Given the description of an element on the screen output the (x, y) to click on. 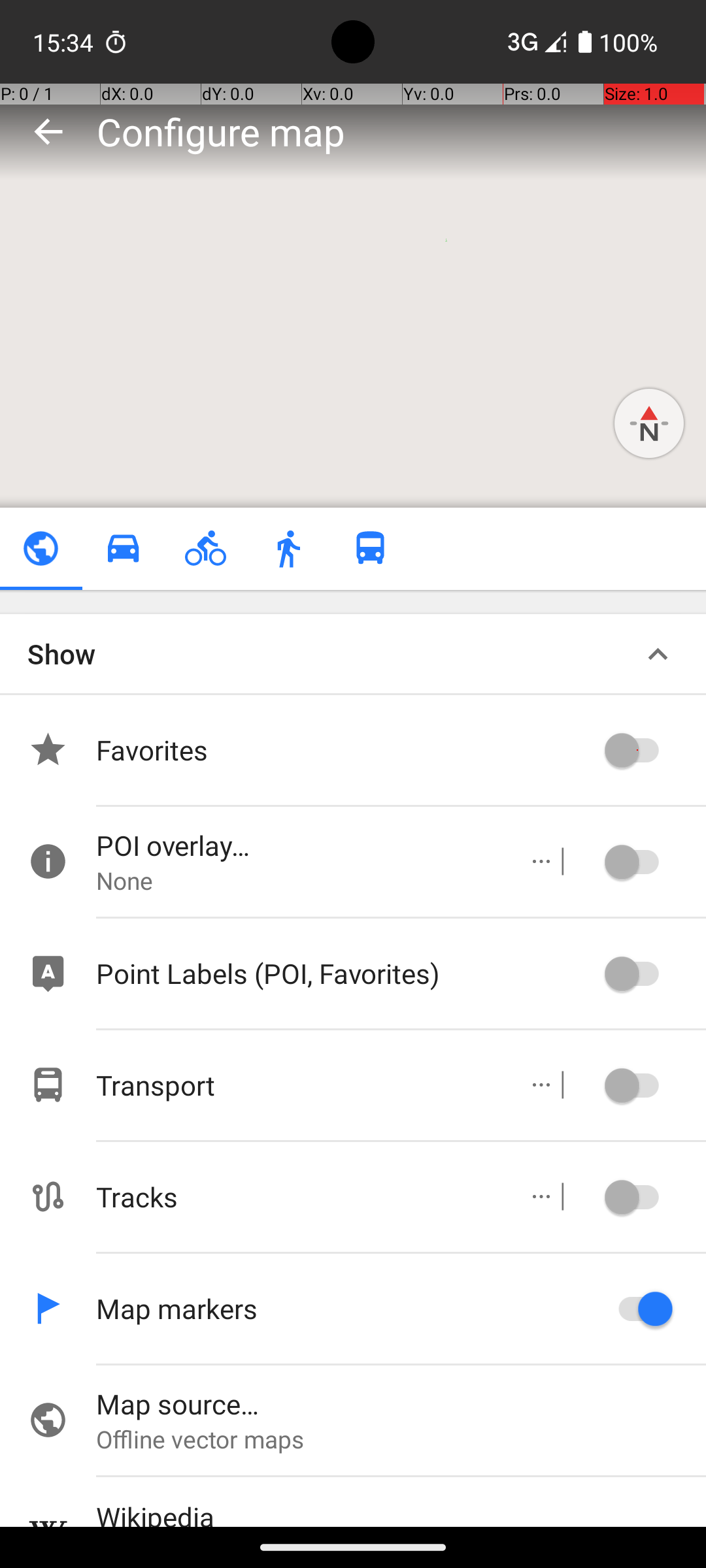
Back to map Element type: android.widget.ImageButton (48, 131)
Browse map checked Element type: android.widget.ImageView (40, 548)
Driving unchecked Element type: android.widget.ImageView (122, 548)
Cycling unchecked Element type: android.widget.ImageView (205, 548)
Walking unchecked Element type: android.widget.ImageView (287, 548)
Show Element type: android.widget.TextView (61, 653)
Favorites Element type: android.widget.TextView (346, 749)
POI overlay… Element type: android.widget.TextView (298, 844)
Point Labels (POI, Favorites) Element type: android.widget.TextView (346, 972)
Transport Element type: android.widget.TextView (298, 1084)
Tracks Element type: android.widget.TextView (298, 1196)
Map markers Element type: android.widget.TextView (346, 1307)
Map source… Element type: android.widget.TextView (401, 1403)
Offline vector maps Element type: android.widget.TextView (401, 1438)
Wikipedia Element type: android.widget.TextView (401, 1512)
